Given the description of an element on the screen output the (x, y) to click on. 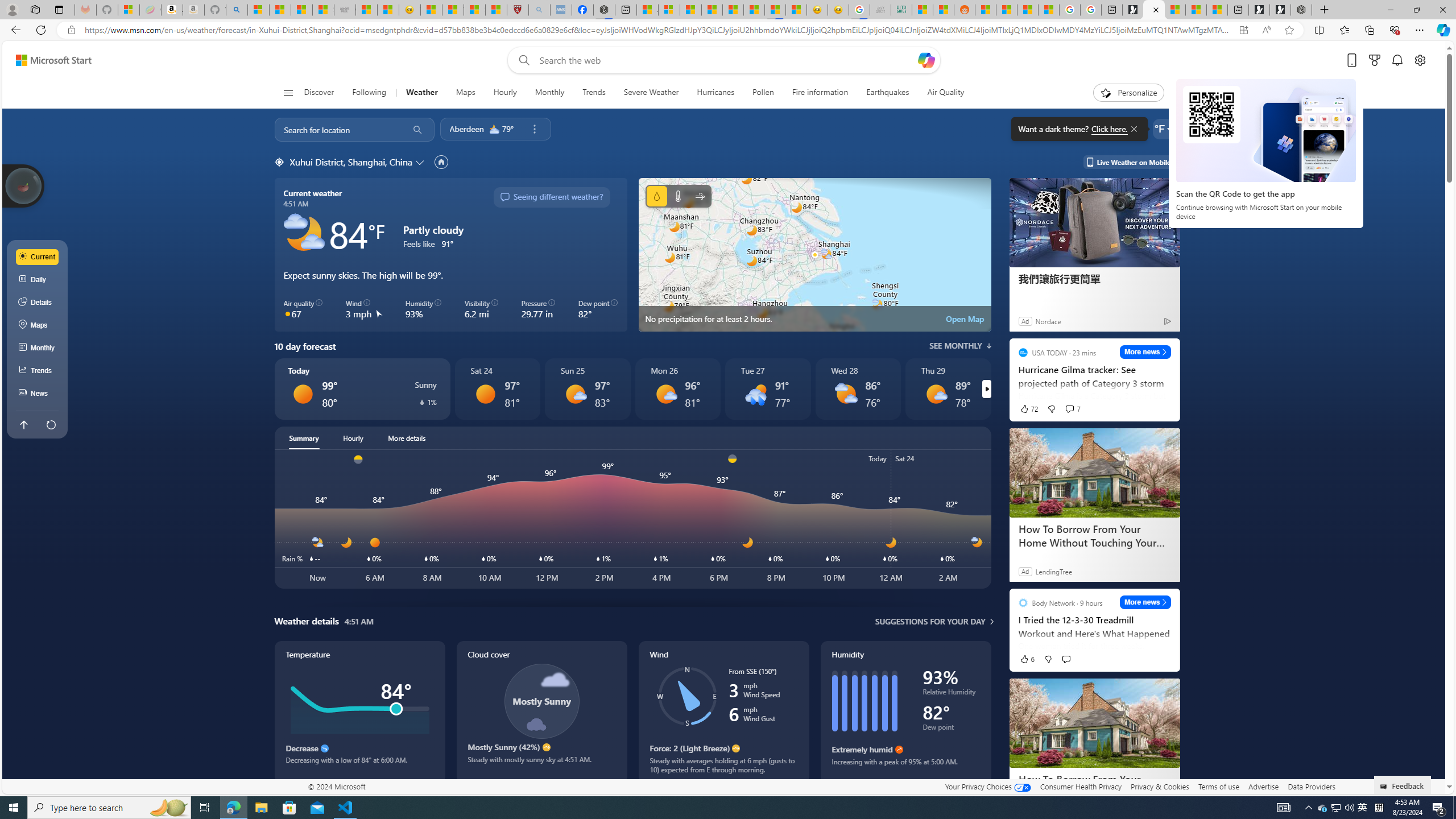
See Monthly (959, 345)
Join us in planting real trees to help our planet! (23, 184)
Pressure 29.77 in (538, 309)
Weather settings Want a dark theme?Click here. (1162, 128)
Class: aqiColorCycle-DS-EntryPoint1-1 (287, 313)
Trends (37, 370)
Monthly (37, 347)
R******* | Trusted Community Engagement and Contributions (985, 9)
Cloud cover (541, 711)
